Given the description of an element on the screen output the (x, y) to click on. 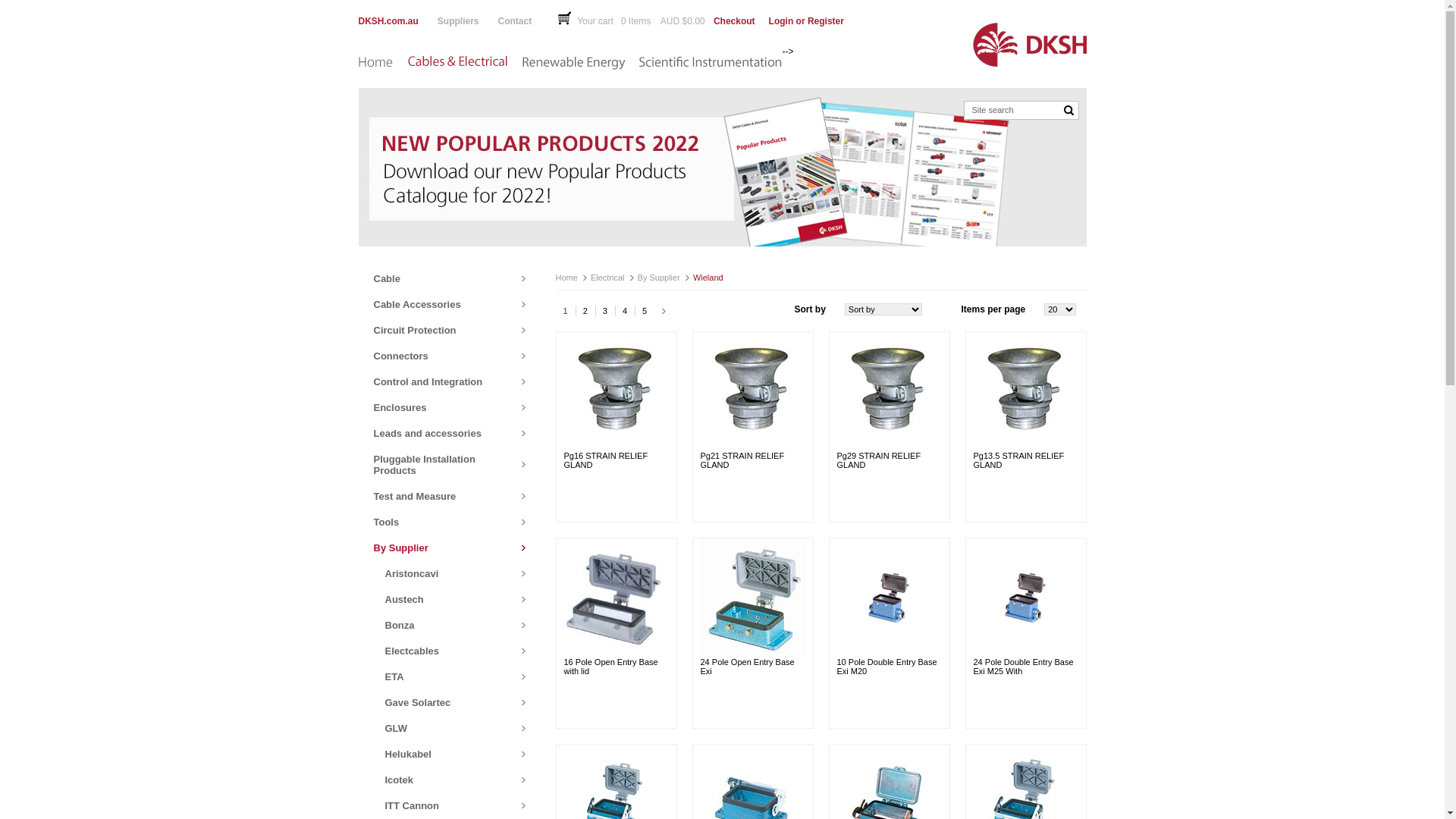
Icotek Element type: text (440, 779)
Pg13.5 STRAIN RELIEF GLAND Element type: text (1018, 460)
Your cart Element type: text (589, 18)
Home Element type: text (566, 277)
Home Element type: hover (357, 46)
Helukabel Element type: text (440, 753)
Electrical Element type: text (607, 277)
Control and Integration Element type: text (448, 381)
Austech Element type: text (440, 598)
Checkout Element type: text (734, 20)
Cable Element type: text (448, 278)
ITT Cannon Element type: text (440, 805)
3 Element type: text (604, 310)
By Supplier Element type: text (658, 277)
Pluggable Installation Products Element type: text (448, 464)
Login or Register Element type: text (809, 20)
Enclosures Element type: text (448, 407)
2 Element type: text (585, 310)
Electcables Element type: text (440, 650)
24 Pole Open Entry Base Exi Element type: text (747, 666)
Aristoncavi Element type: text (440, 573)
Laboratory Element type: hover (709, 65)
ETA Element type: text (440, 676)
GLW Element type: text (440, 727)
Circuit Protection Element type: text (448, 329)
Suppliers Element type: text (467, 21)
Renewable Energy Element type: hover (571, 65)
Cable Accessories Element type: text (448, 303)
Cables & Electrical Element type: hover (460, 65)
5 Element type: text (644, 310)
10 Pole Double Entry Base Exi M20 Element type: text (887, 666)
Pg16 STRAIN RELIEF GLAND Element type: text (606, 460)
1 Element type: text (564, 310)
Leads and accessories Element type: text (448, 432)
Solar Element type: hover (514, 46)
Gave Solartec Element type: text (440, 702)
DKSH.com.au Element type: text (396, 21)
0 Items Element type: text (639, 20)
Pg21 STRAIN RELIEF GLAND Element type: text (742, 460)
Site search Element type: hover (1015, 109)
Contact Element type: text (532, 21)
By Supplier Element type: text (448, 547)
Laboratory Element type: hover (637, 46)
Bonza Element type: text (440, 624)
4 Element type: text (624, 310)
Connectors Element type: text (448, 355)
24 Pole Double Entry Base Exi M25 With Element type: text (1023, 666)
Tools Element type: text (448, 521)
Pg29 STRAIN RELIEF GLAND Element type: text (879, 460)
16 Pole Open Entry Base with lid Element type: text (611, 666)
Home Element type: hover (374, 65)
Test and Measure Element type: text (448, 495)
Electrical Element type: hover (407, 46)
